Given the description of an element on the screen output the (x, y) to click on. 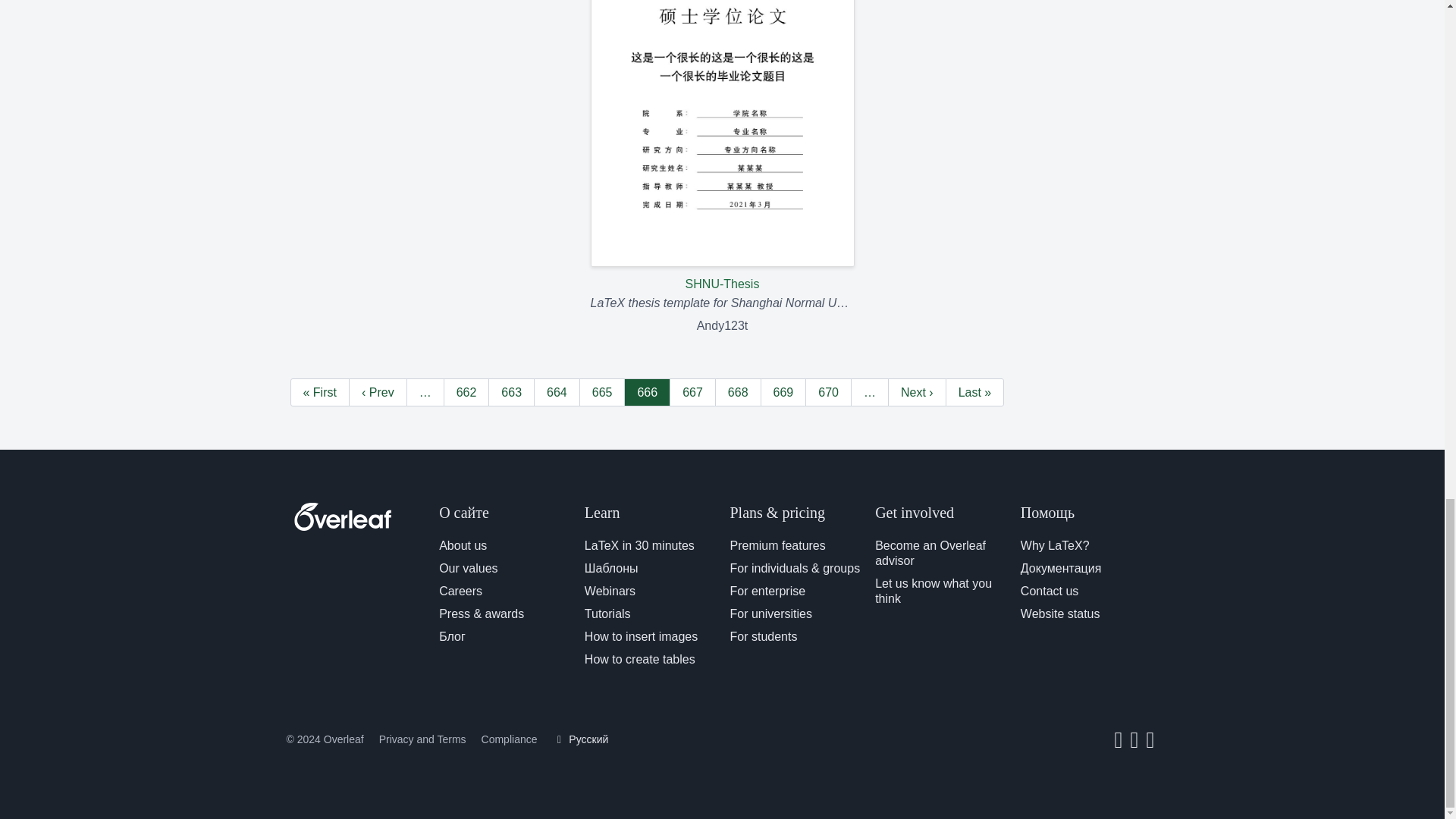
665 (602, 392)
663 (510, 392)
SHNU-Thesis (721, 146)
669 (783, 392)
668 (737, 392)
664 (556, 392)
667 (692, 392)
662 (466, 392)
